Given the description of an element on the screen output the (x, y) to click on. 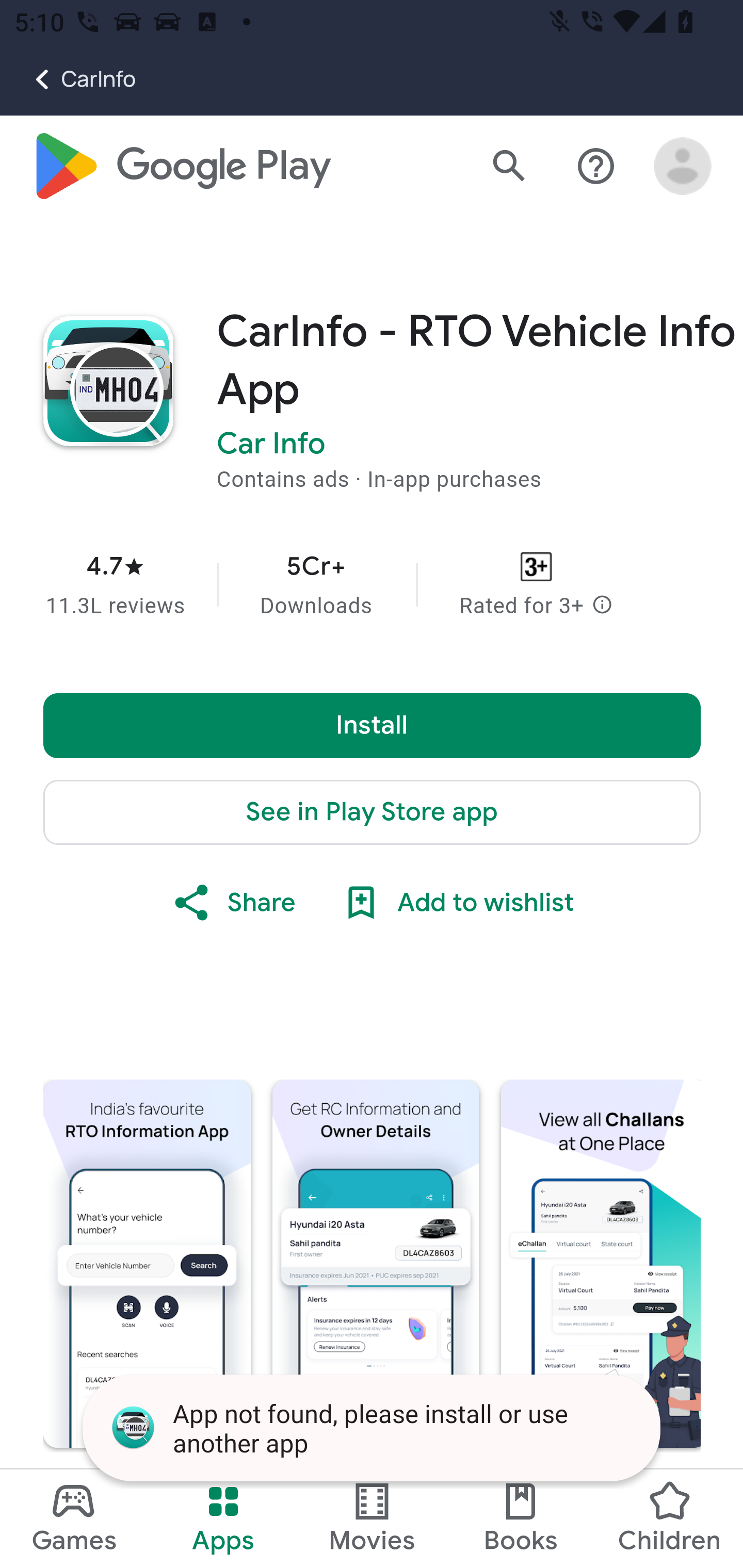
CarInfo (67, 79)
Google Play logo (180, 166)
Search (508, 166)
Help centre (596, 166)
Open account menu (682, 166)
Car Info (271, 445)
More info about this content rating (601, 606)
Install (372, 726)
See in Play Store app (372, 812)
Share (233, 903)
Add to wishlist (455, 903)
Screenshot image (147, 1263)
Screenshot image (375, 1263)
Screenshot image (601, 1263)
Games (74, 1518)
Apps (222, 1518)
Movies (372, 1518)
Books (520, 1518)
Children (668, 1518)
